Given the description of an element on the screen output the (x, y) to click on. 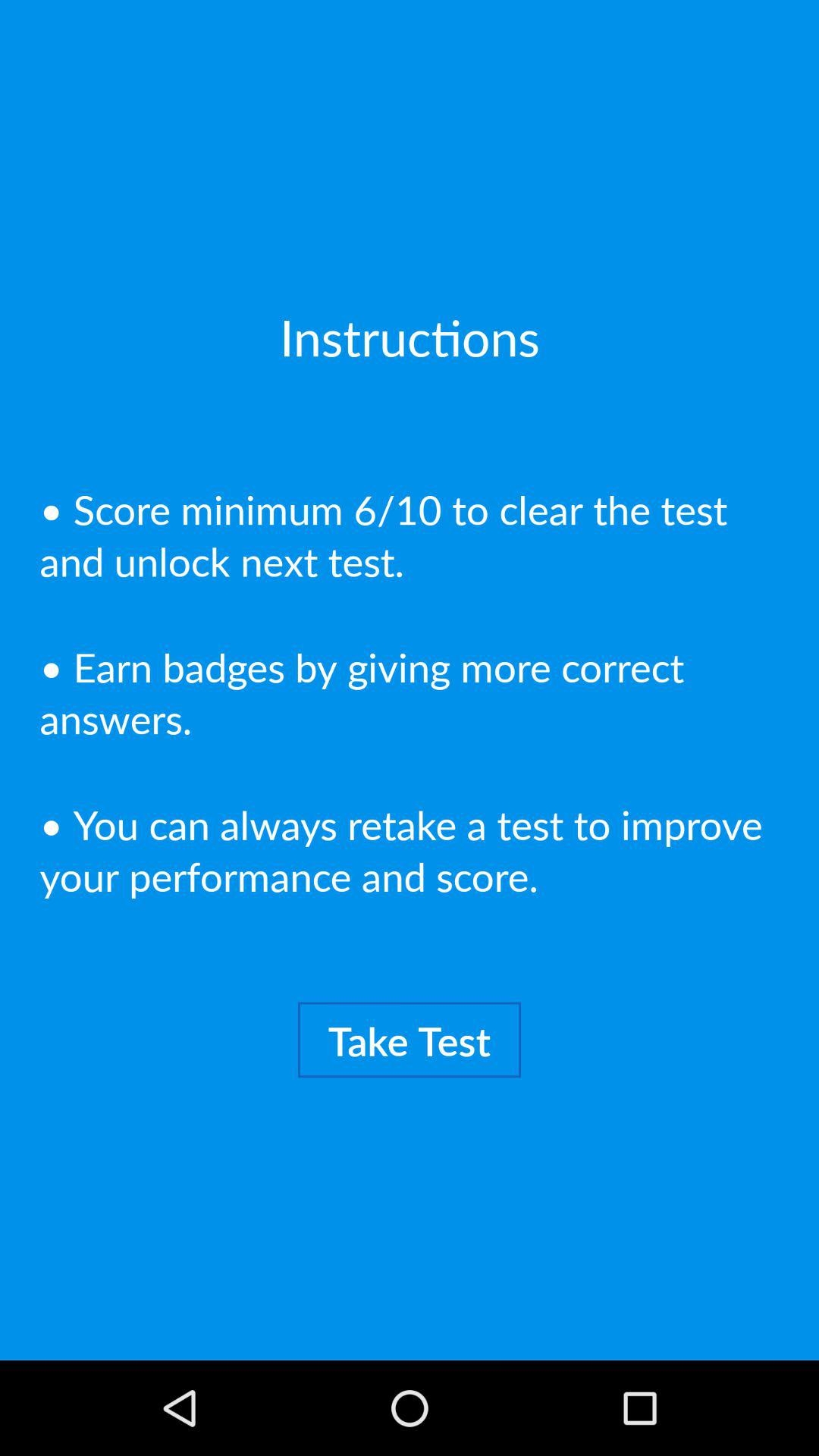
flip until the take test icon (409, 1039)
